Given the description of an element on the screen output the (x, y) to click on. 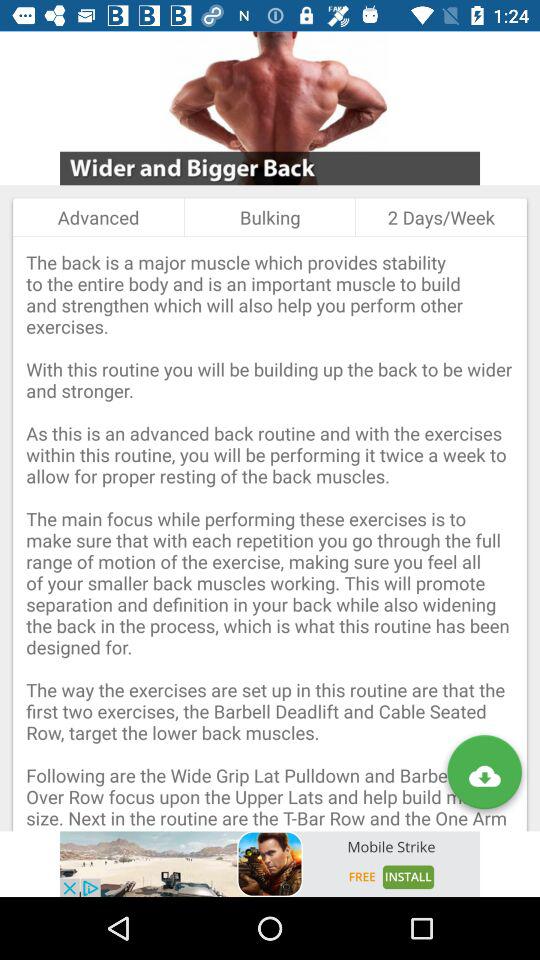
choose the advanced at the top left corner (98, 217)
